Given the description of an element on the screen output the (x, y) to click on. 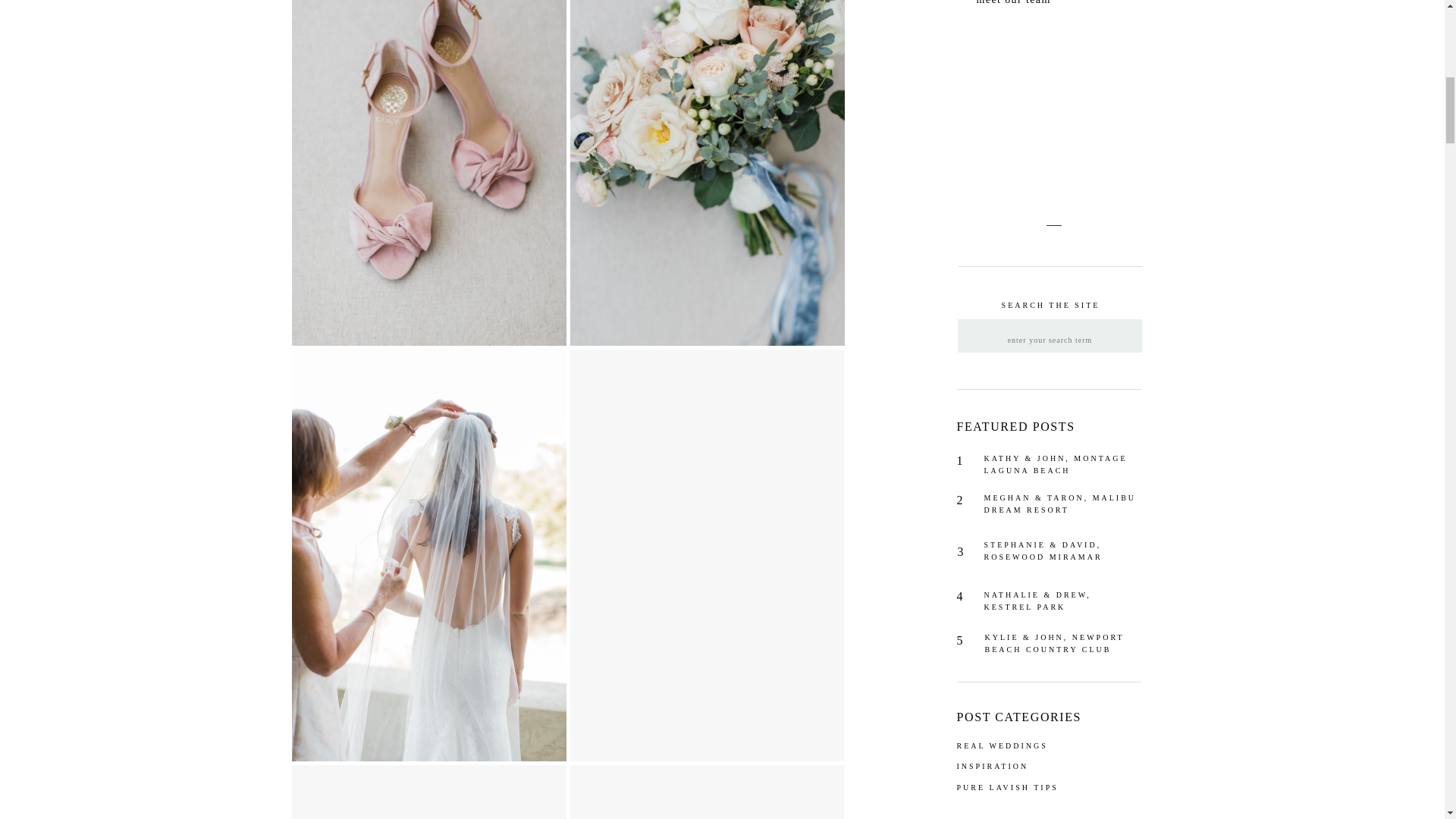
INSPIRATION (1012, 766)
meet our team (1033, 2)
PURE LAVISH TIPS (1026, 789)
REAL WEDDINGS (1012, 745)
